Given the description of an element on the screen output the (x, y) to click on. 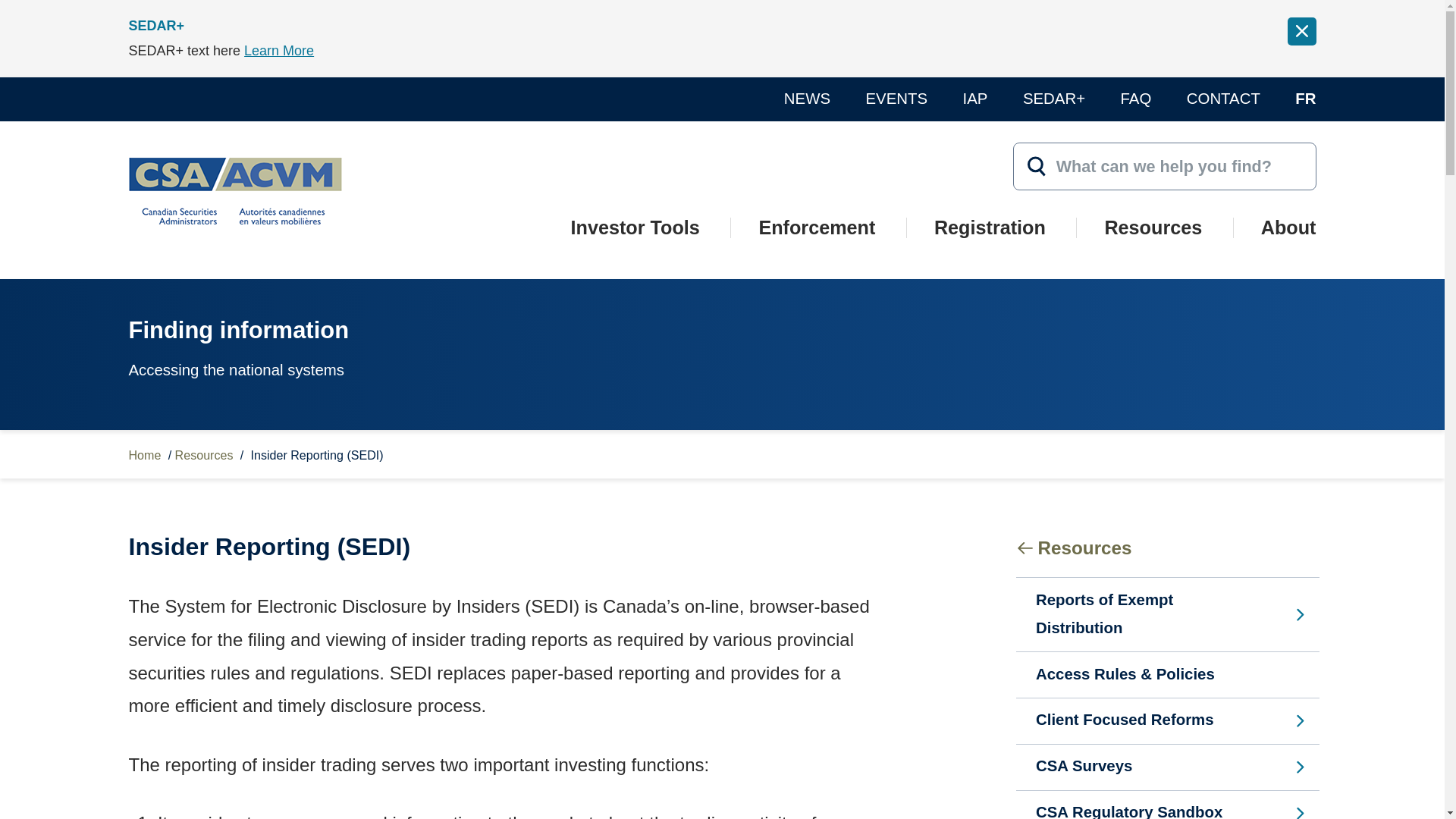
Registration (989, 244)
FAQ (1136, 98)
FR (1305, 98)
CONTACT (1223, 98)
Learn More (279, 50)
NEWS (806, 98)
Enforcement (816, 244)
IAP (975, 98)
CLOSE NOTIFICATION (1301, 31)
Investor Tools (635, 244)
